Given the description of an element on the screen output the (x, y) to click on. 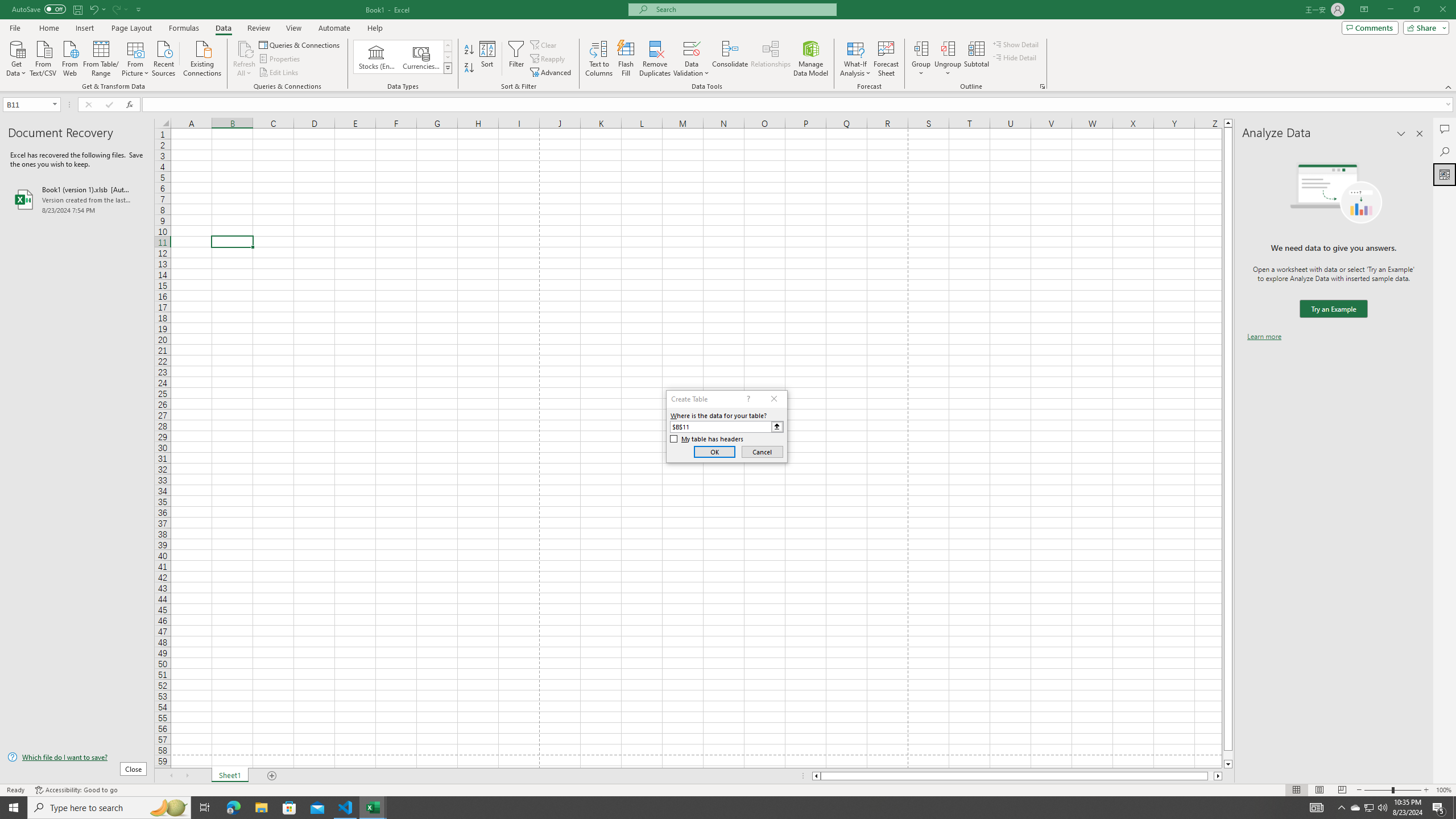
Zoom (1392, 790)
From Picture (135, 57)
Advanced... (551, 72)
Group and Outline Settings (1042, 85)
Redo (115, 9)
Page right (1211, 775)
AutoSave (38, 9)
Filter (515, 58)
Refresh All (244, 48)
Manage Data Model (810, 58)
What-If Analysis (855, 58)
Hide Detail (1014, 56)
System (6, 6)
Page Break Preview (1342, 790)
Data Validation... (691, 58)
